Given the description of an element on the screen output the (x, y) to click on. 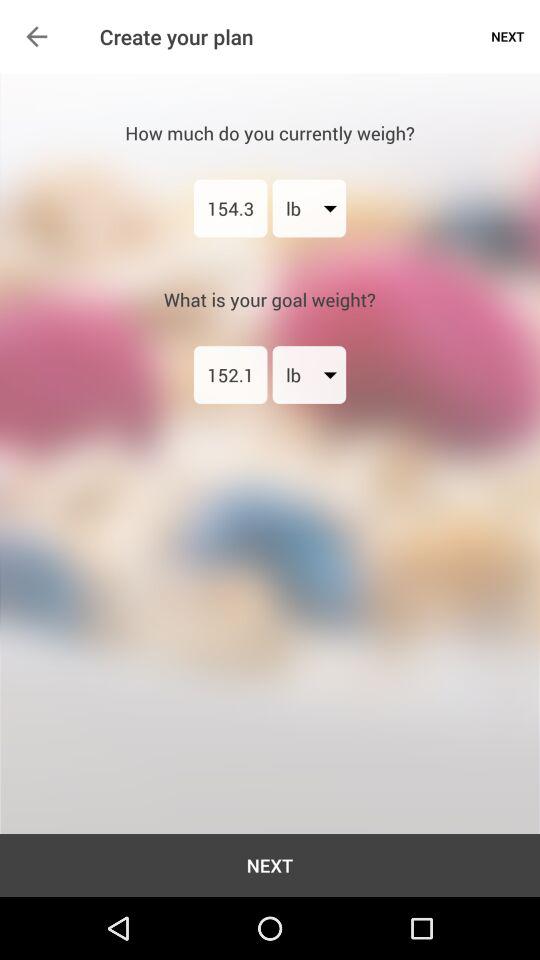
turn off 154.3 icon (230, 208)
